Given the description of an element on the screen output the (x, y) to click on. 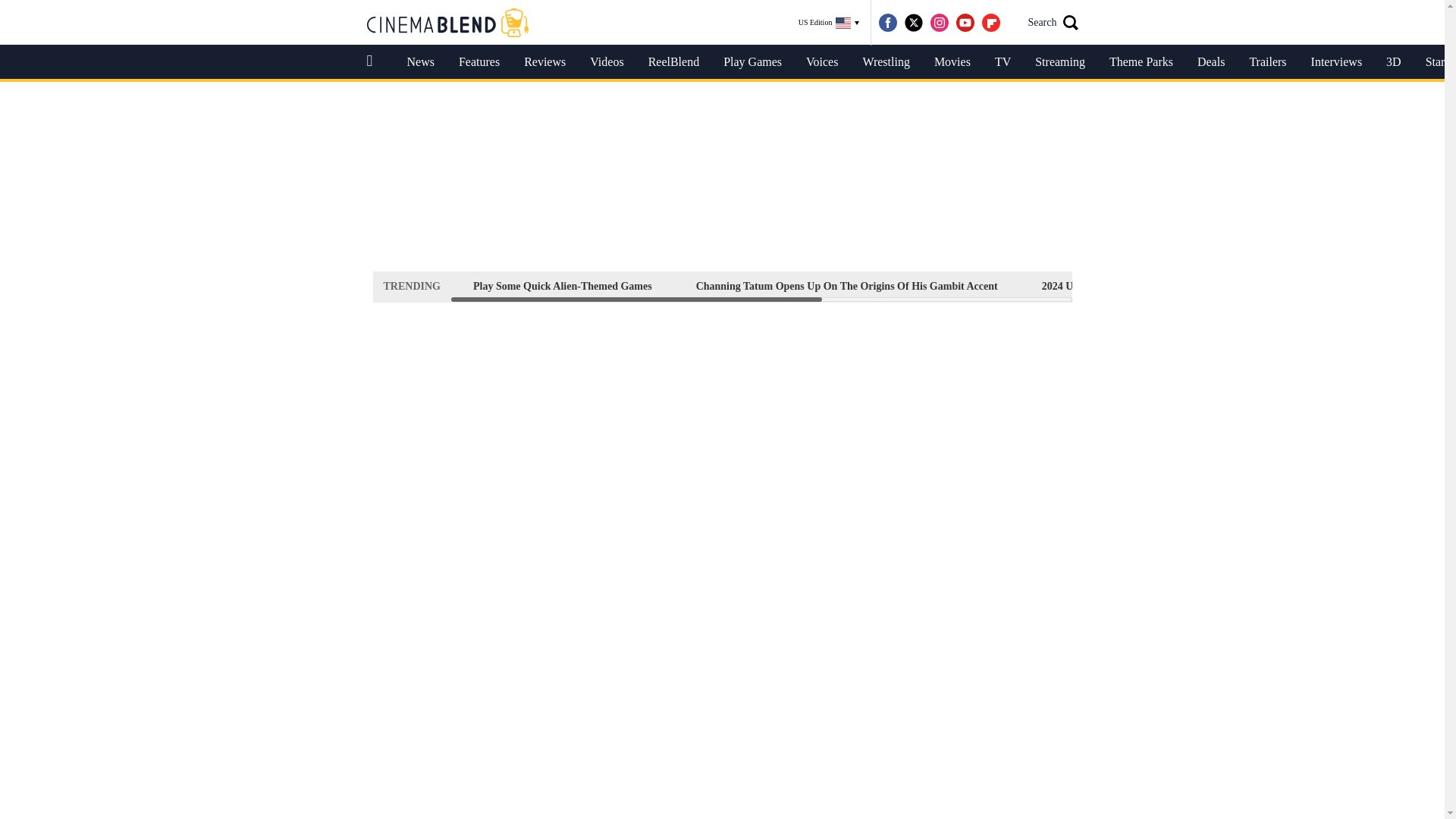
Videos (606, 61)
Streaming (1060, 61)
Play Games (752, 61)
Features (479, 61)
Interviews (1336, 61)
Voices (821, 61)
News (419, 61)
Deals (1210, 61)
TV (1002, 61)
Movies (951, 61)
